Given the description of an element on the screen output the (x, y) to click on. 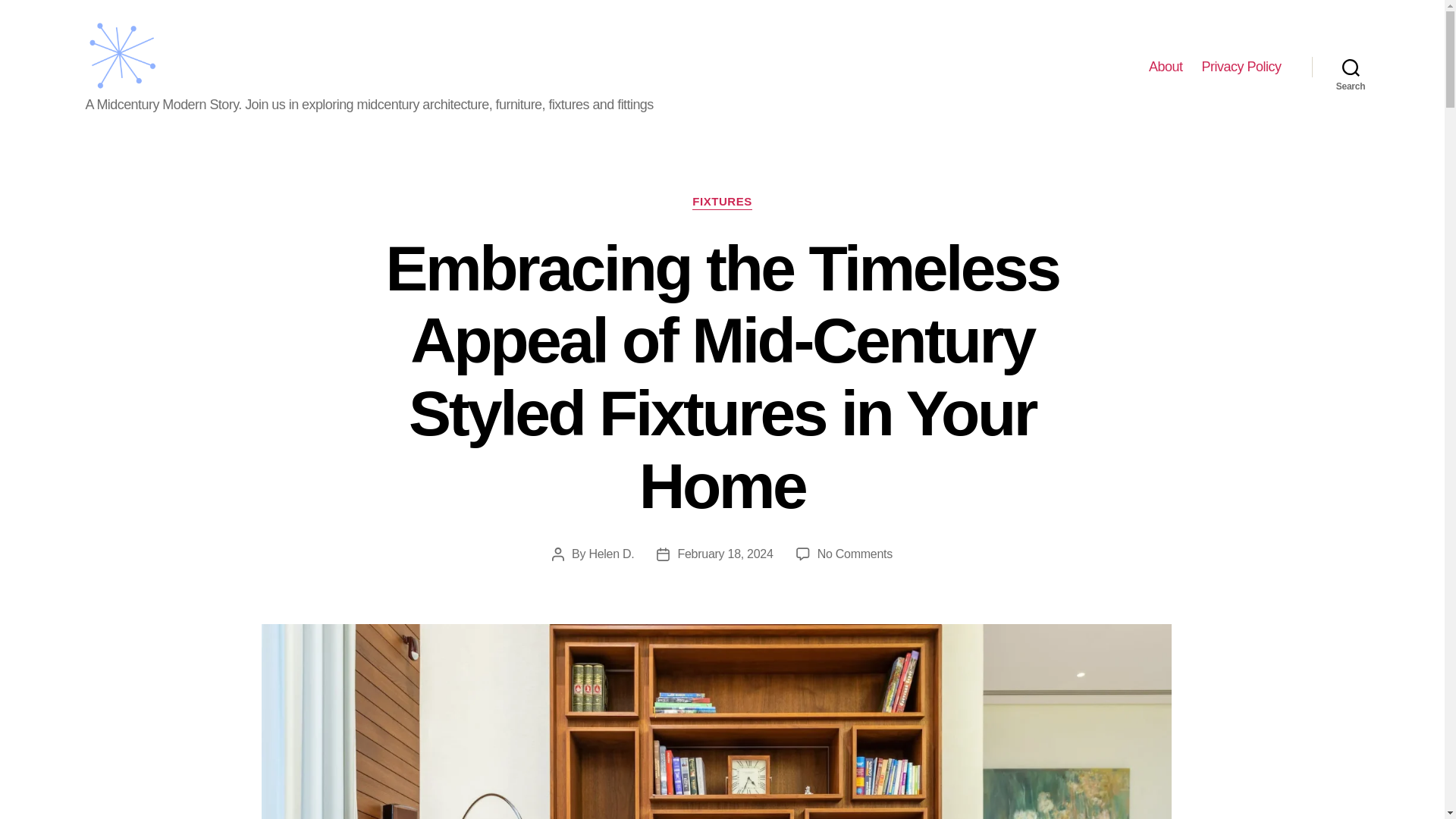
FIXTURES (722, 201)
Privacy Policy (1241, 67)
About (1165, 67)
Search (1350, 66)
Helen D. (610, 553)
February 18, 2024 (725, 553)
